Given the description of an element on the screen output the (x, y) to click on. 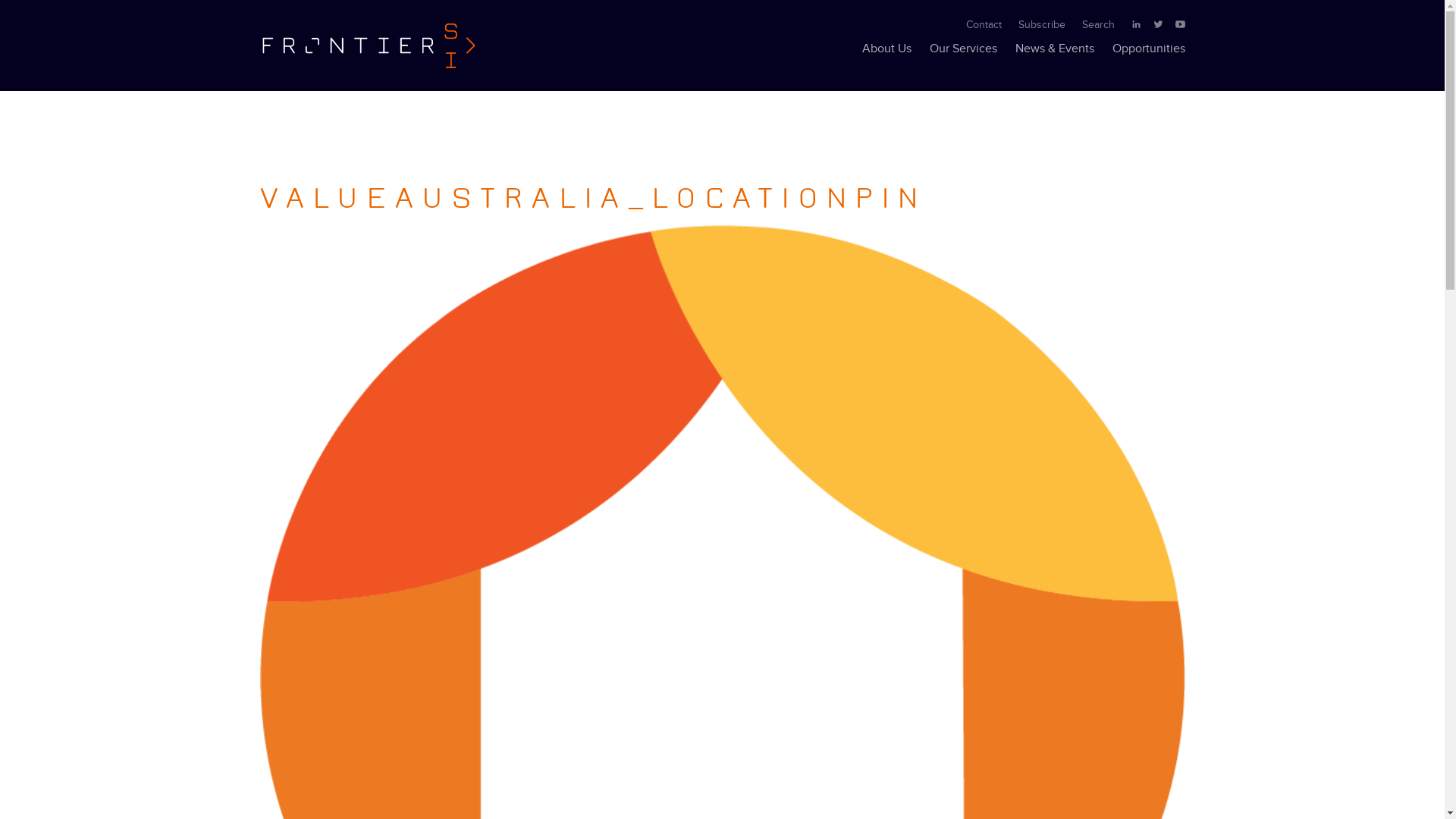
Contact Element type: text (983, 24)
Our Services Element type: text (963, 48)
YouTube Element type: hover (1180, 24)
Back to home Element type: hover (367, 45)
LinkedIn Element type: hover (1137, 24)
Skip to main content Element type: text (476, 14)
Twitter Element type: hover (1158, 24)
Subscribe Element type: text (1040, 24)
Search Element type: text (1097, 24)
News & Events Element type: text (1053, 48)
About Us Element type: text (885, 48)
Opportunities Element type: text (1147, 48)
